Given the description of an element on the screen output the (x, y) to click on. 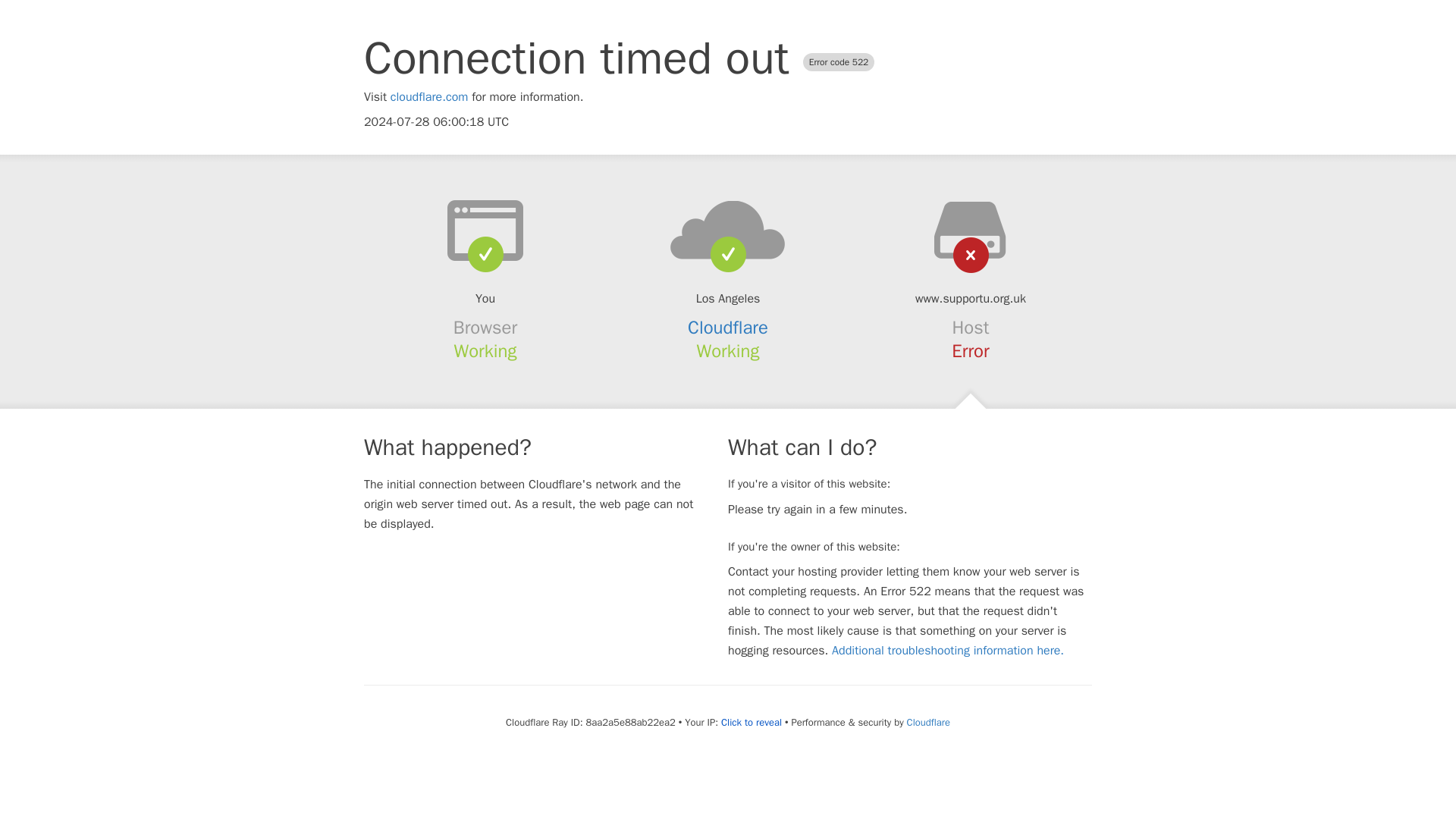
Click to reveal (750, 722)
cloudflare.com (429, 96)
Cloudflare (928, 721)
Cloudflare (727, 327)
Additional troubleshooting information here. (947, 650)
